Given the description of an element on the screen output the (x, y) to click on. 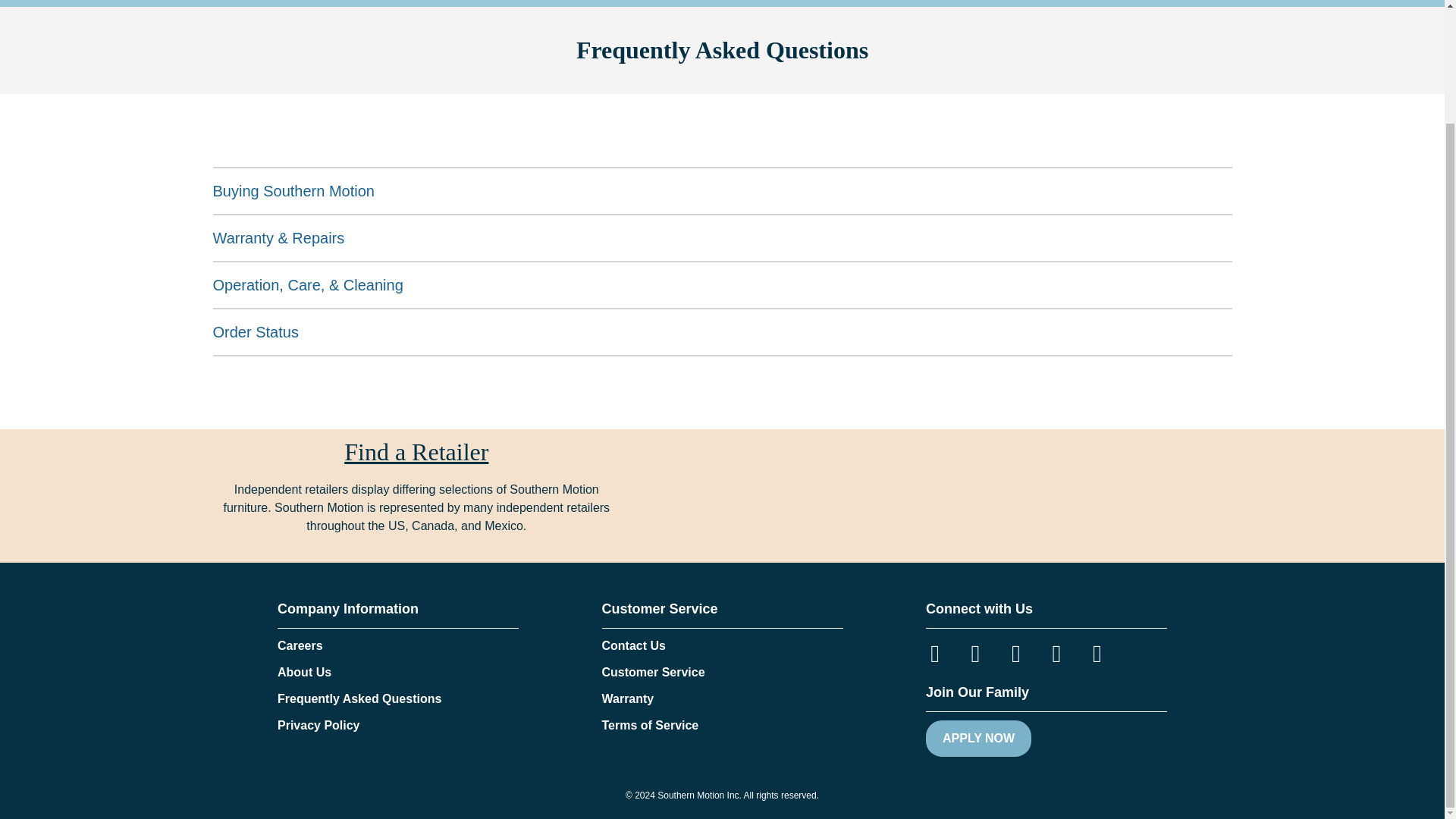
Features (892, 3)
Accent Chairs (681, 3)
Collections (794, 3)
